Given the description of an element on the screen output the (x, y) to click on. 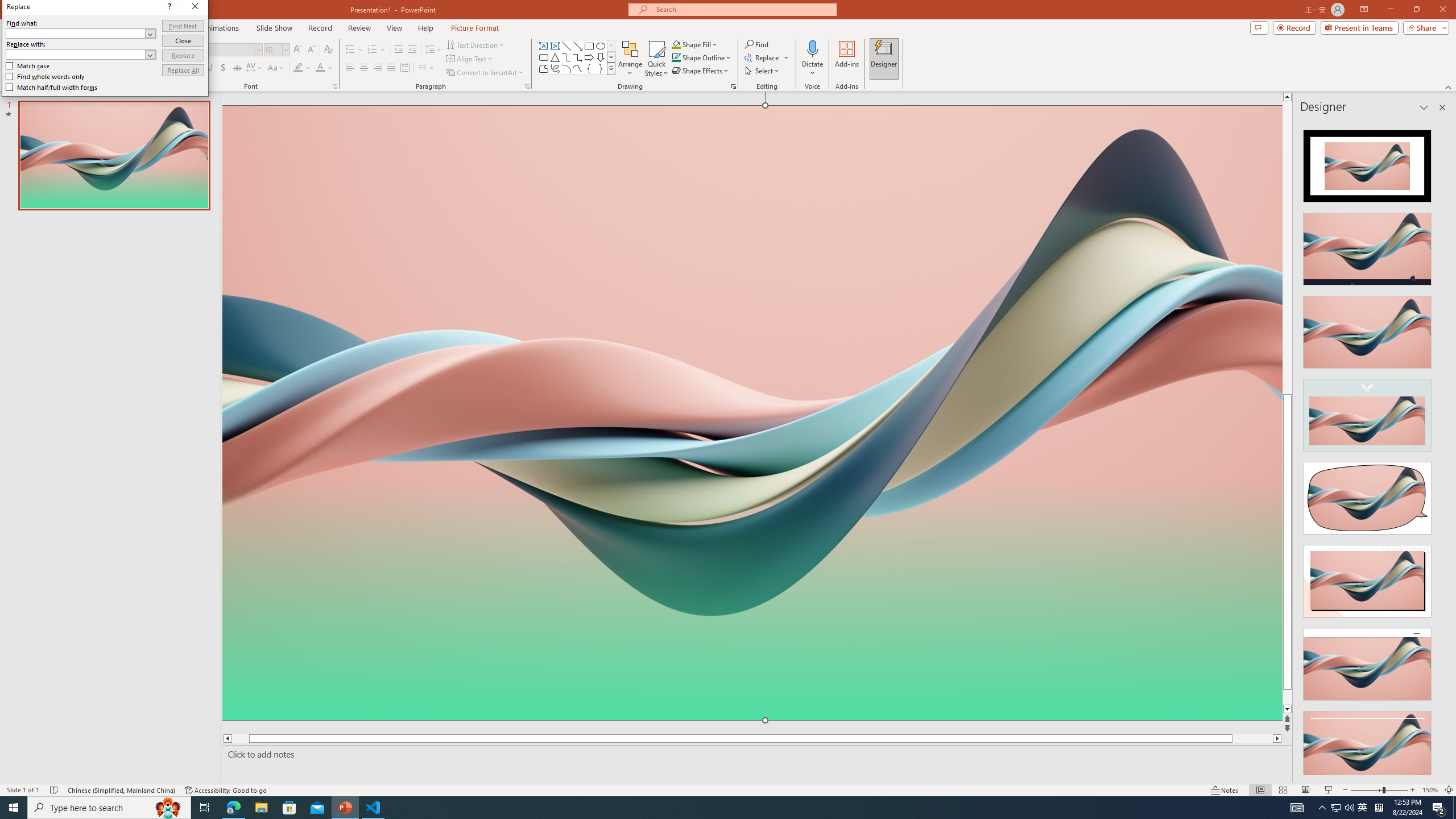
Replace with (289, 199)
